Given the description of an element on the screen output the (x, y) to click on. 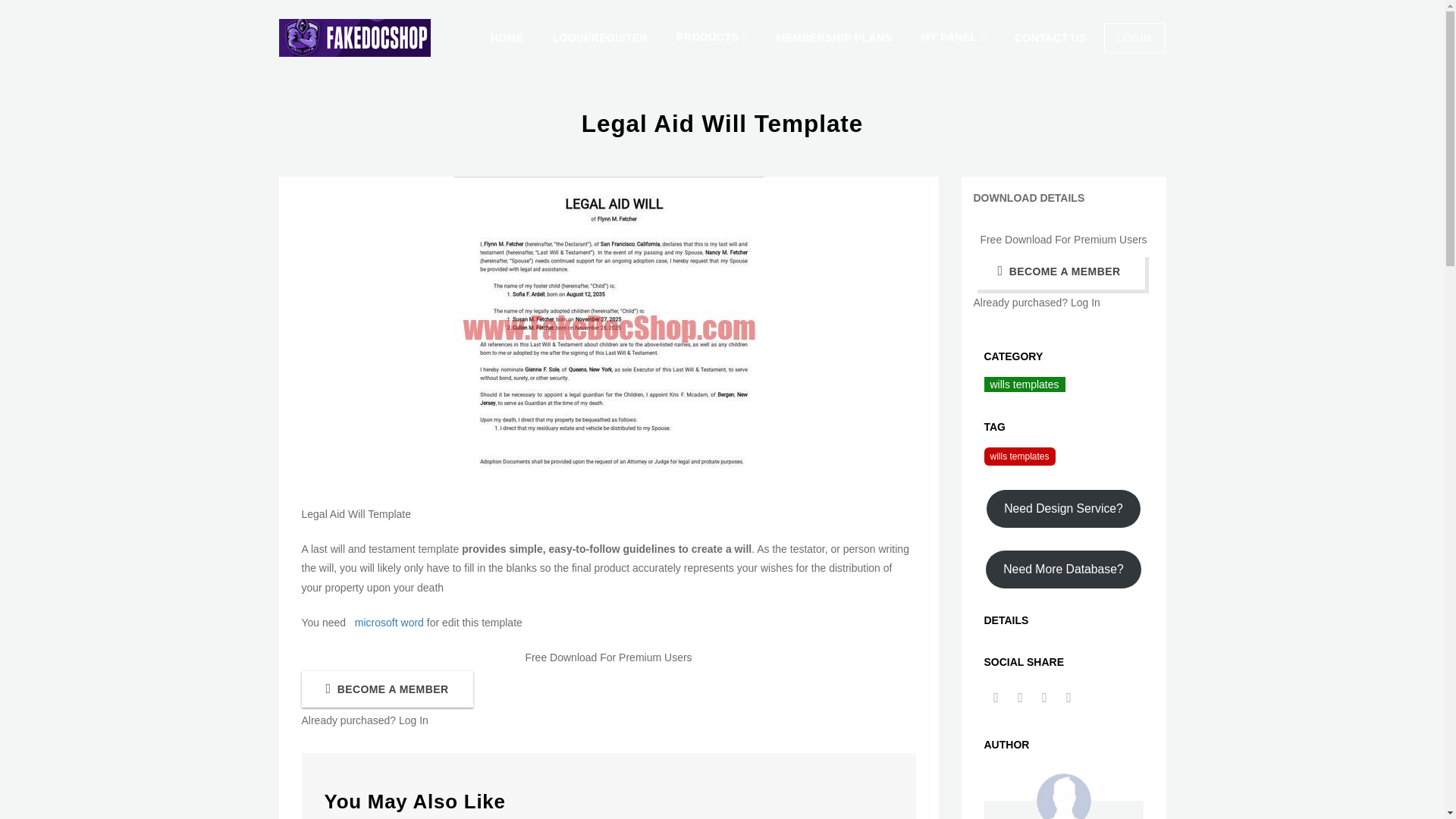
PRODUCTS (711, 38)
HOME (507, 38)
MEMBERSHIP PLANS (834, 38)
MY PANEL (952, 38)
Legal Aid Will Template 1 (607, 329)
